Given the description of an element on the screen output the (x, y) to click on. 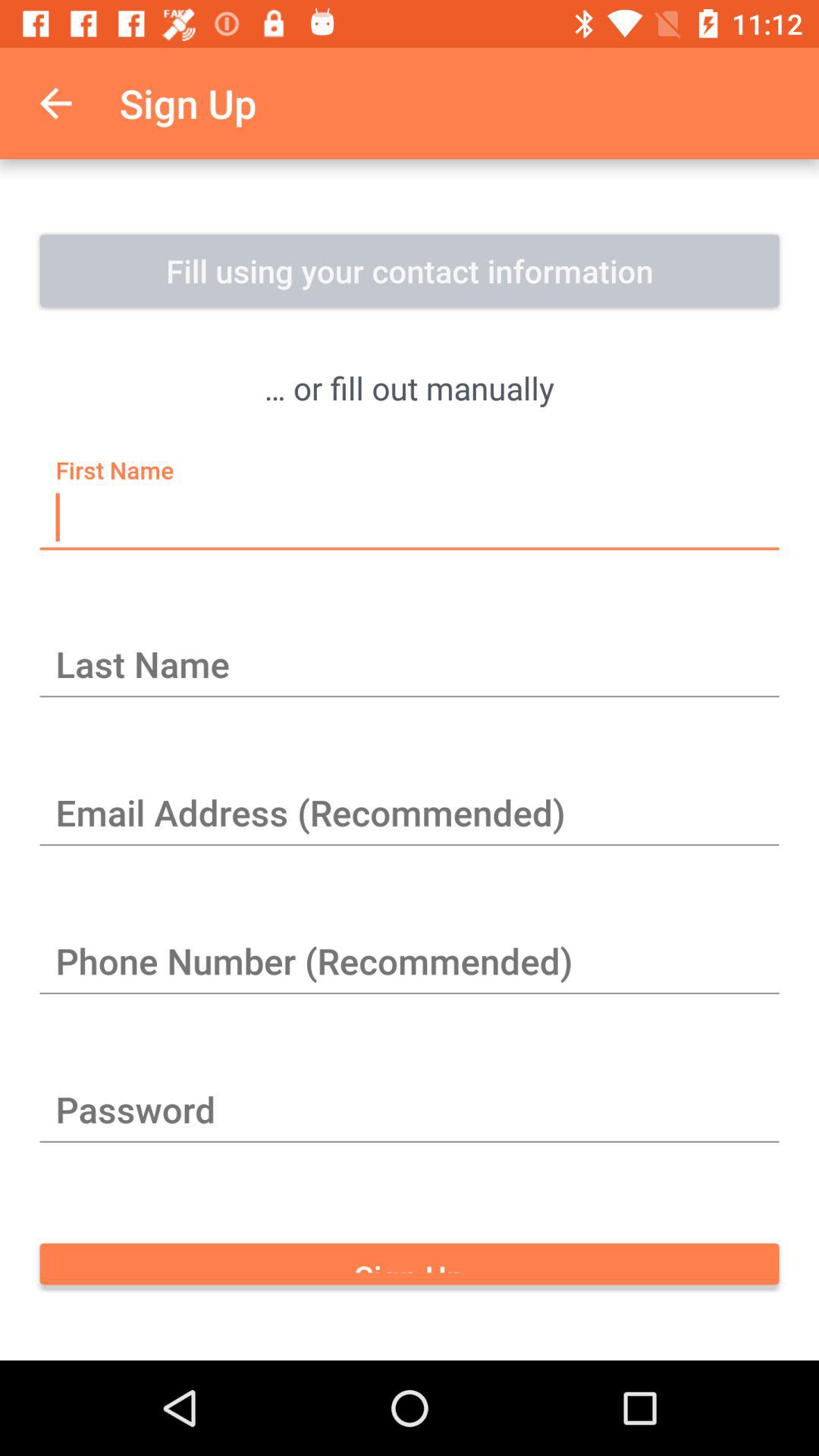
swipe to fill using your icon (409, 270)
